Given the description of an element on the screen output the (x, y) to click on. 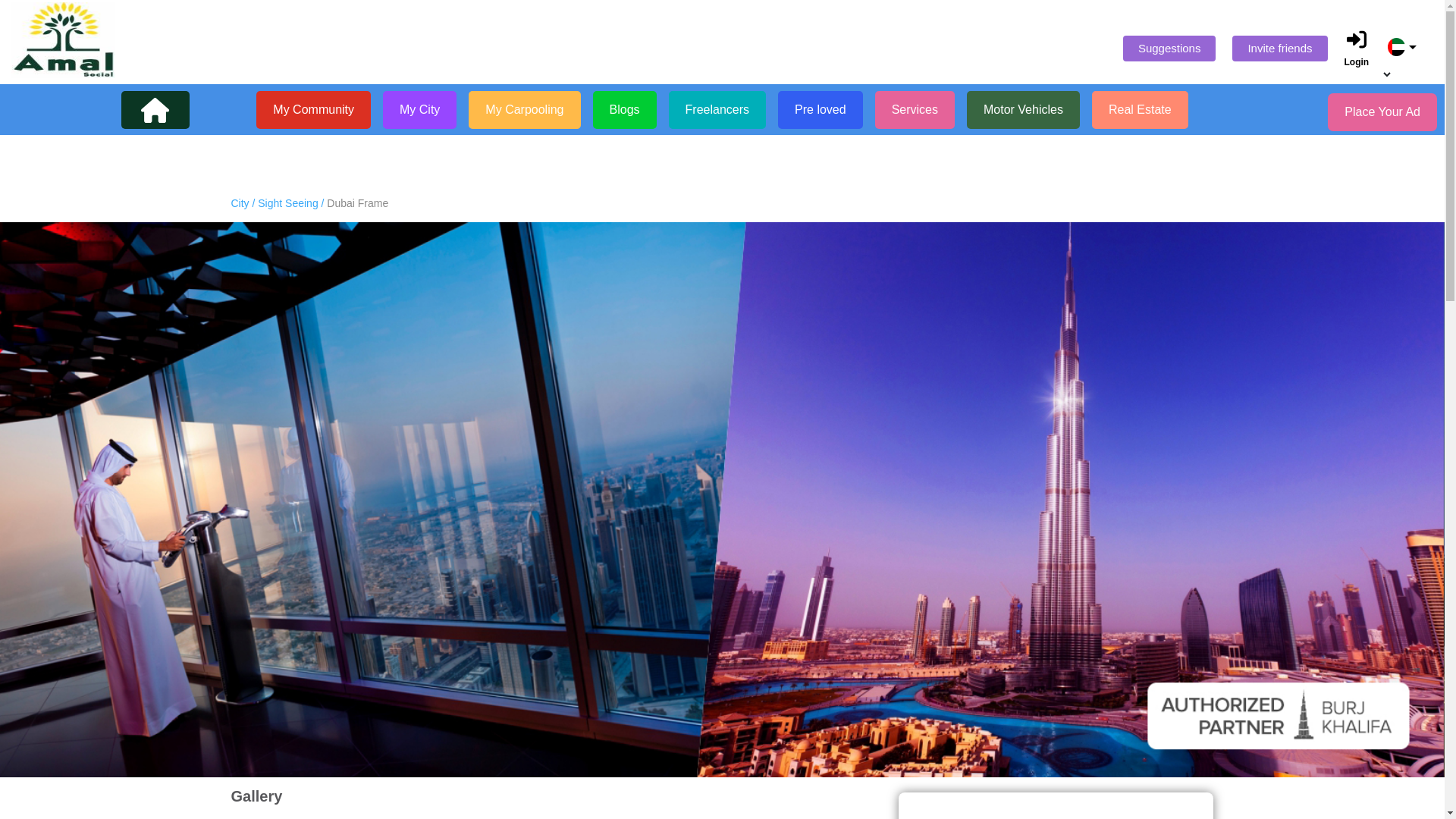
Suggestions (1168, 48)
Freelancers (716, 109)
Invite friends (1278, 48)
Country (1401, 46)
My City (419, 109)
Services (915, 109)
Motor Vehicles (1023, 109)
Place Your Ad (1382, 112)
Pre loved (820, 109)
Place Your Ad (1382, 112)
My Carpooling (523, 109)
Real Estate (1140, 109)
Blogs (624, 109)
My Community (313, 109)
